Given the description of an element on the screen output the (x, y) to click on. 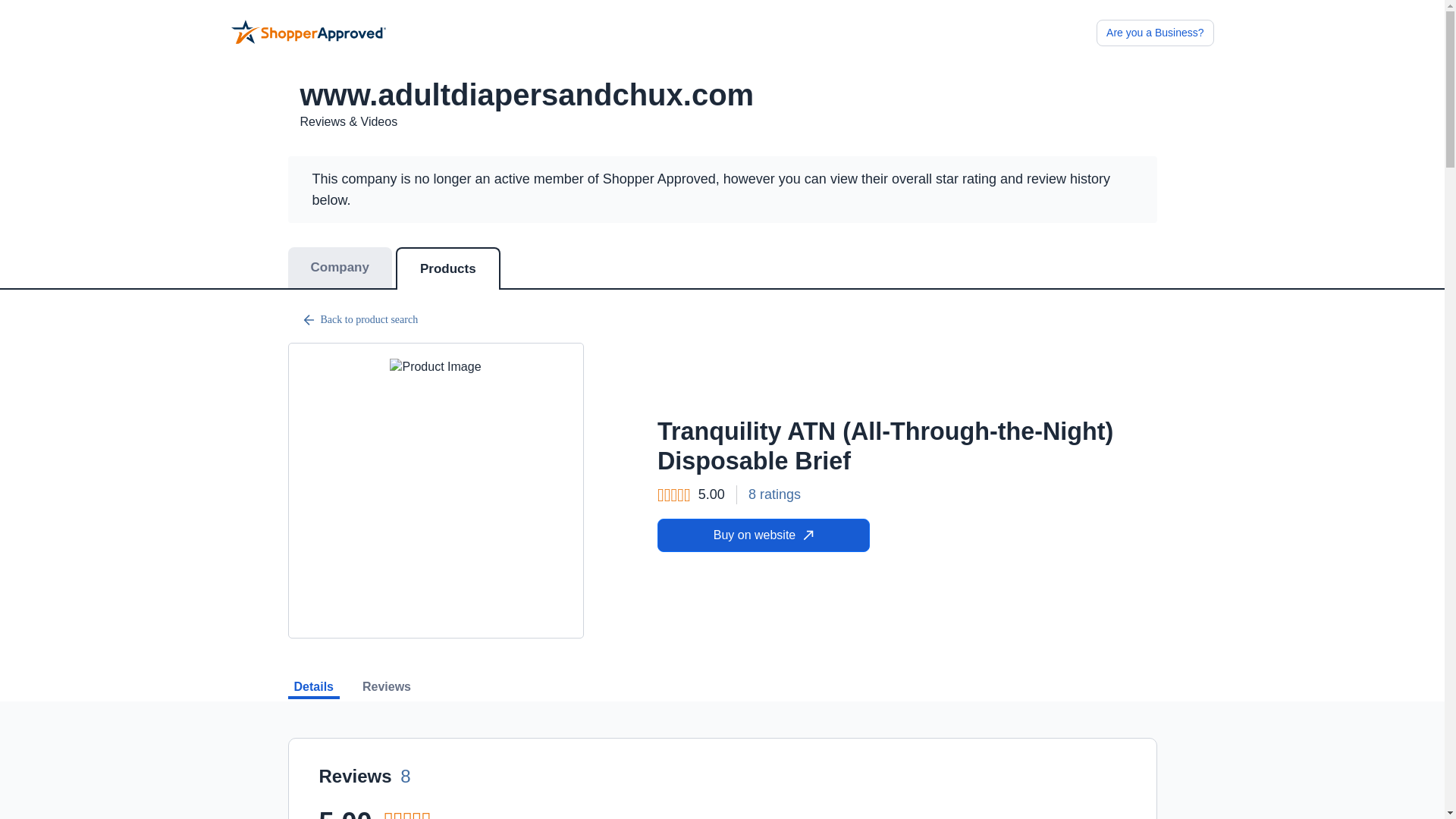
Products (448, 268)
Buy on website (763, 535)
Are you a Business? (1154, 32)
Back to product search (721, 319)
8 ratings (774, 494)
Company (339, 267)
Details (313, 690)
Reviews (386, 690)
